Given the description of an element on the screen output the (x, y) to click on. 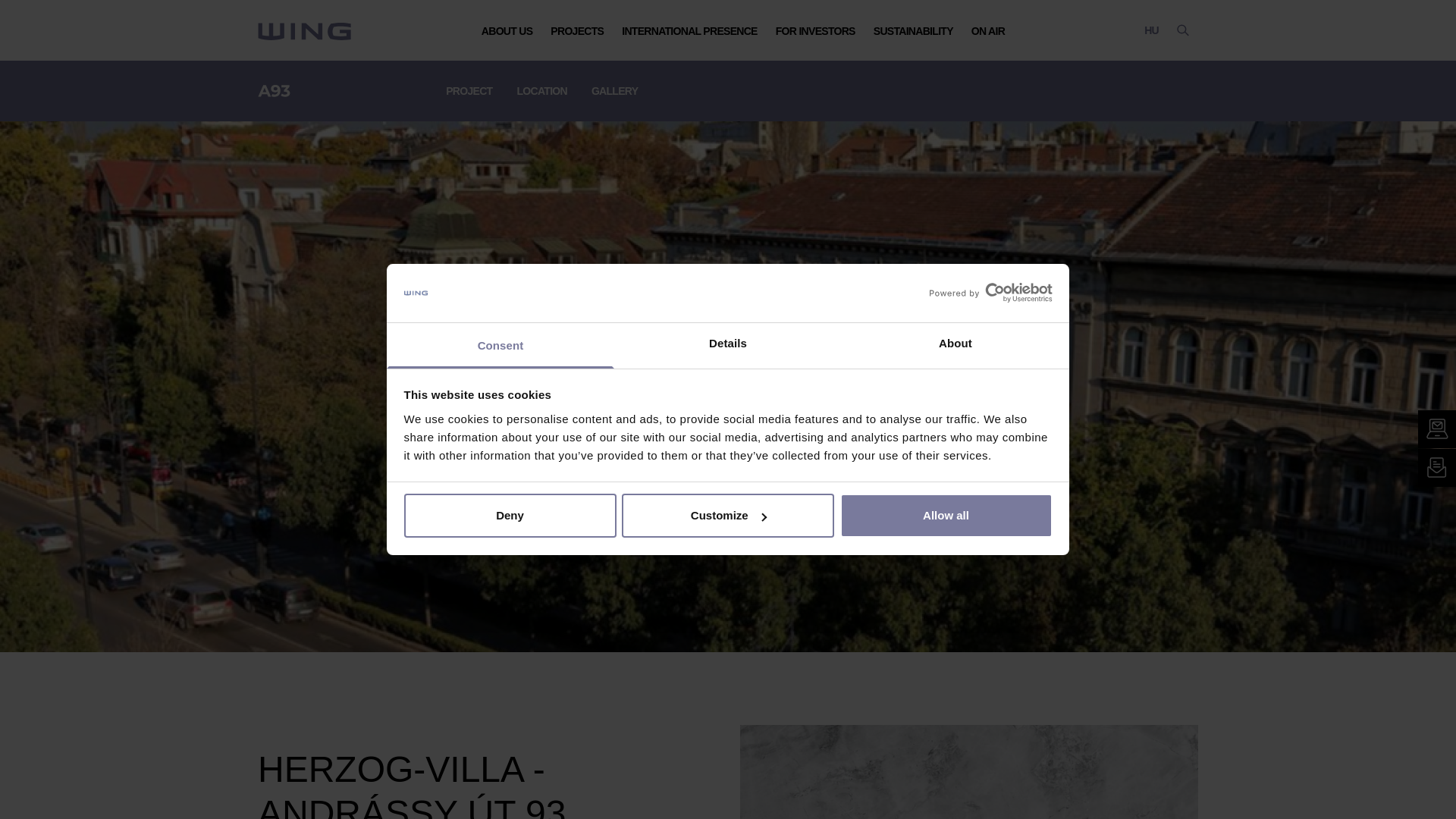
About (954, 345)
Details (727, 345)
Consent (500, 345)
